Given the description of an element on the screen output the (x, y) to click on. 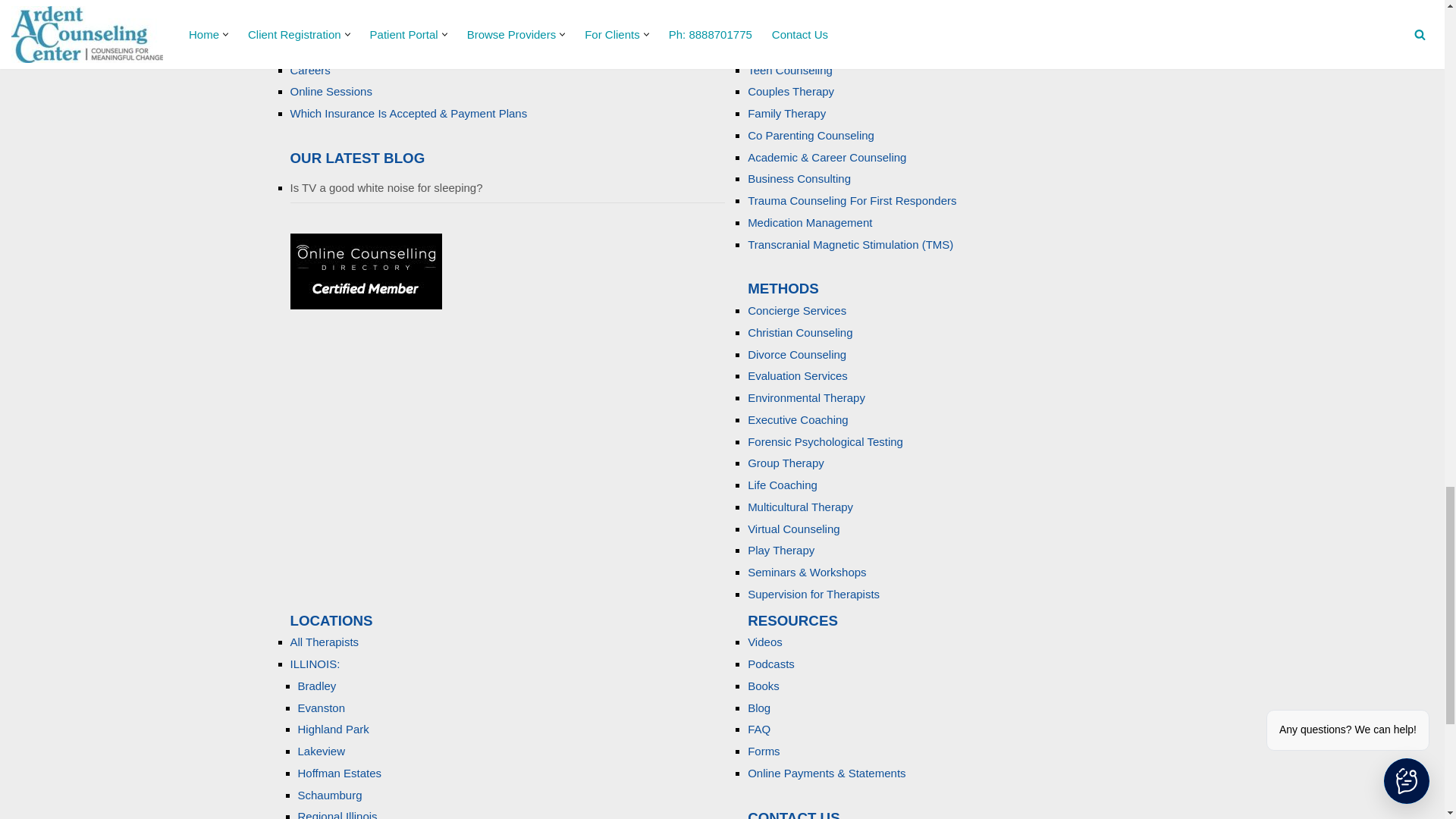
Is TV a good white noise for sleeping? (385, 187)
